Given the description of an element on the screen output the (x, y) to click on. 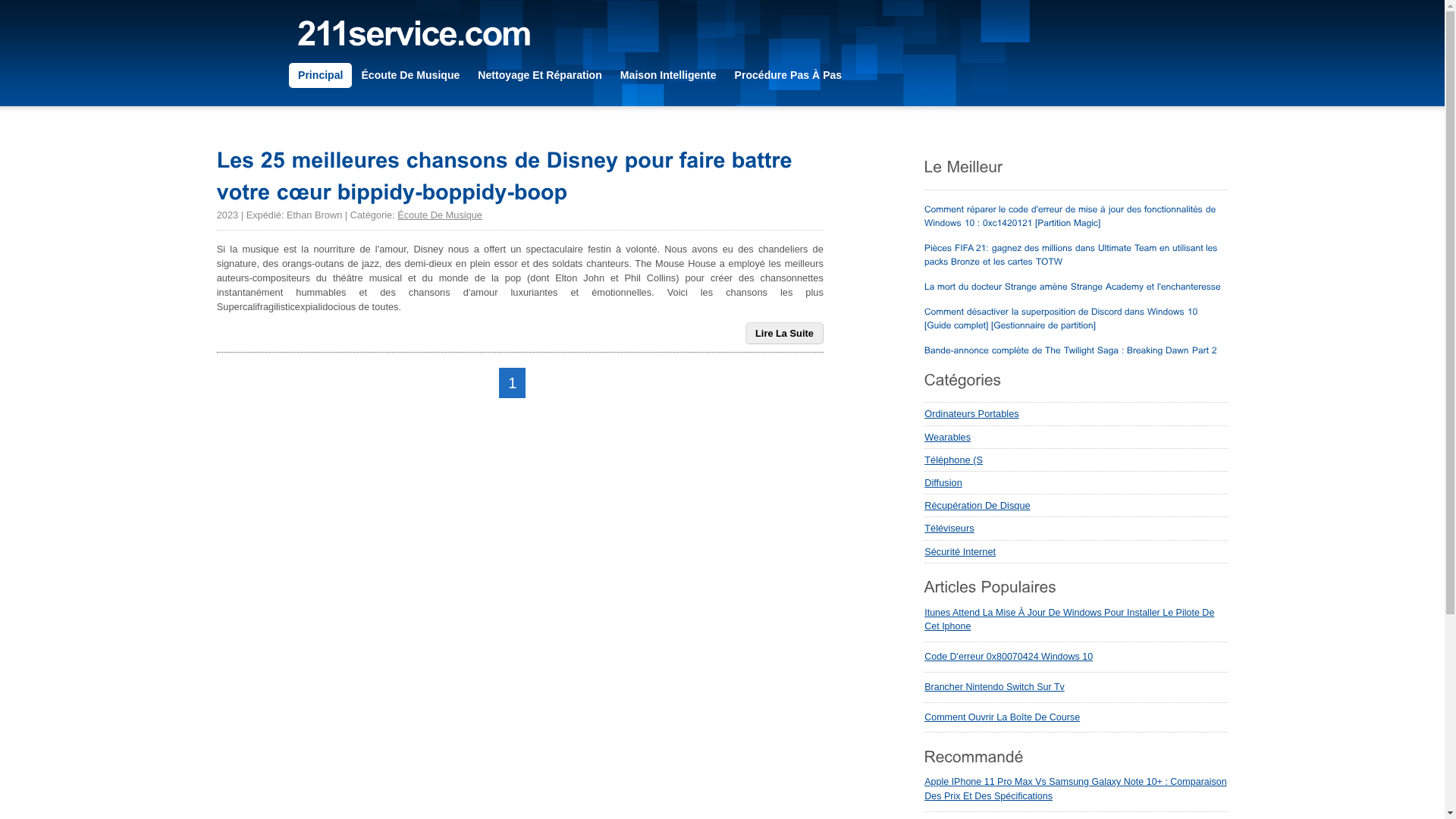
Ordinateurs Portables Element type: text (1075, 413)
1 Element type: text (511, 382)
Wearables Element type: text (1075, 437)
Diffusion Element type: text (1075, 482)
Code D'Erreur 0x80070424 Windows 10 Element type: text (1008, 656)
Maison Intelligente Element type: text (668, 74)
Principal Element type: text (319, 74)
Brancher Nintendo Switch Sur Tv Element type: text (994, 686)
Lire La Suite Element type: text (784, 333)
